Given the description of an element on the screen output the (x, y) to click on. 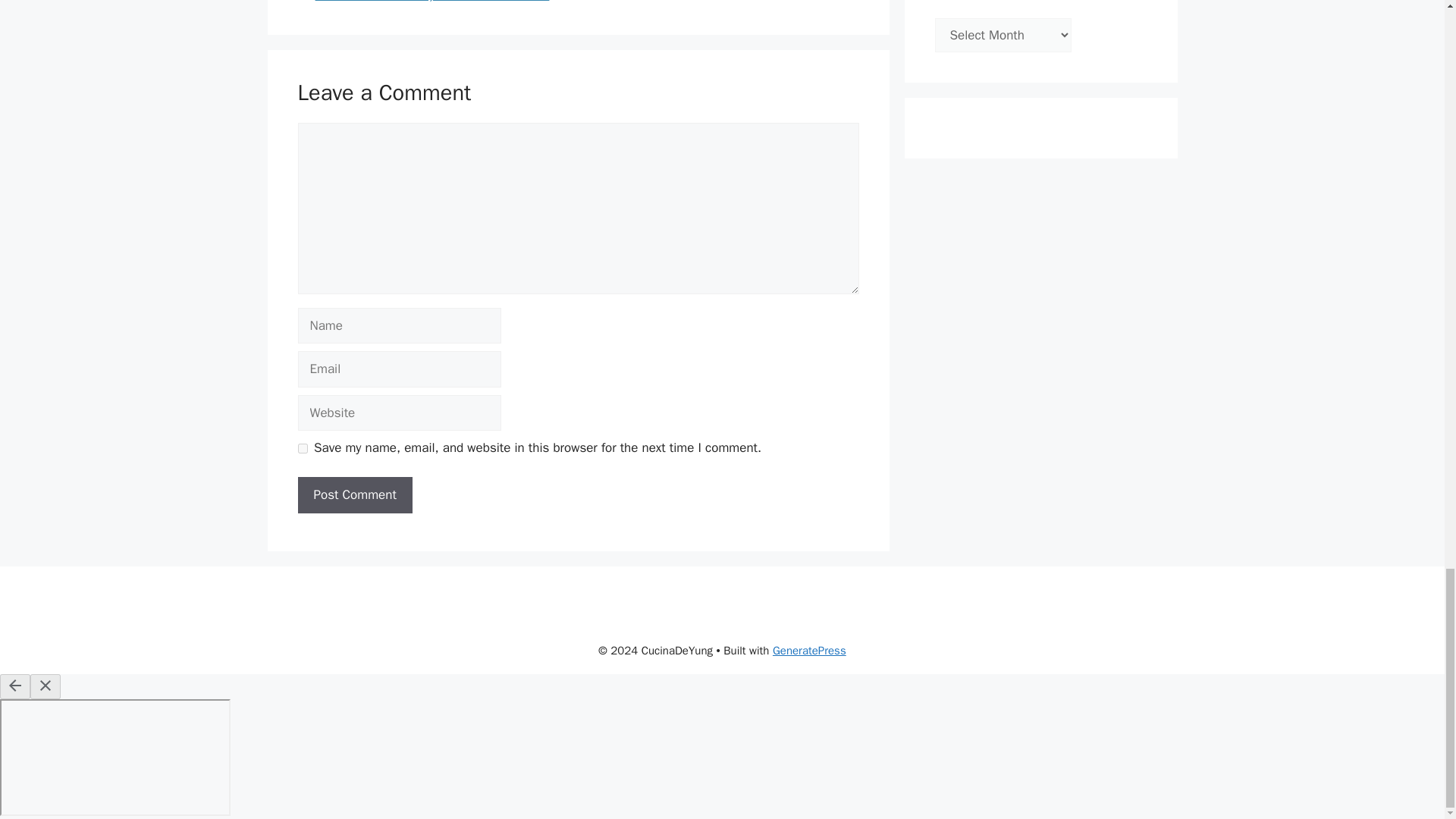
yes (302, 448)
Post Comment (354, 494)
Post Comment (354, 494)
